Given the description of an element on the screen output the (x, y) to click on. 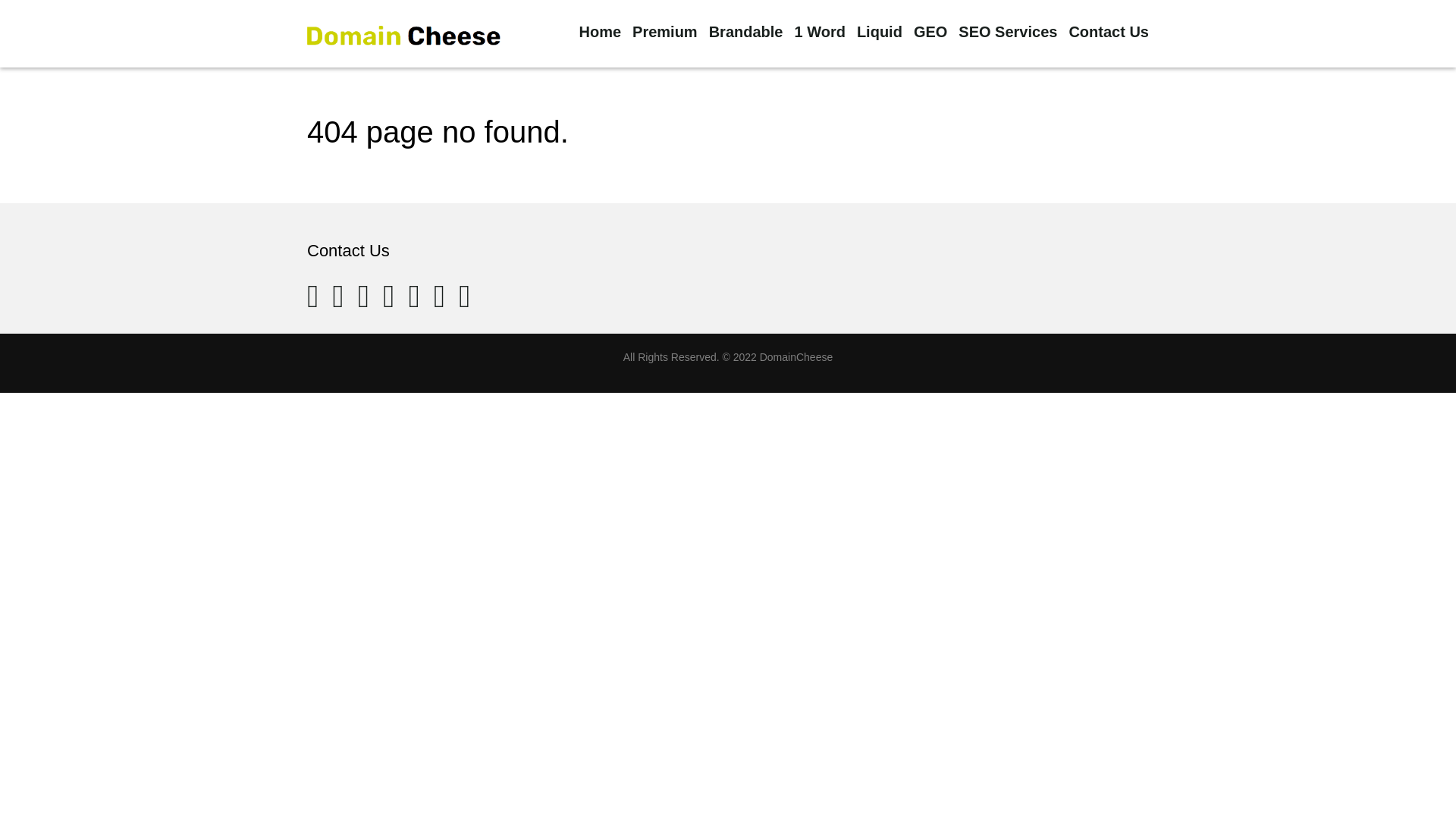
Home (599, 31)
Liquid (879, 31)
GEO (930, 31)
1 Word (818, 31)
Premium (664, 31)
SEO Services (1007, 31)
Contact Us (1108, 31)
Brandable (746, 31)
